Given the description of an element on the screen output the (x, y) to click on. 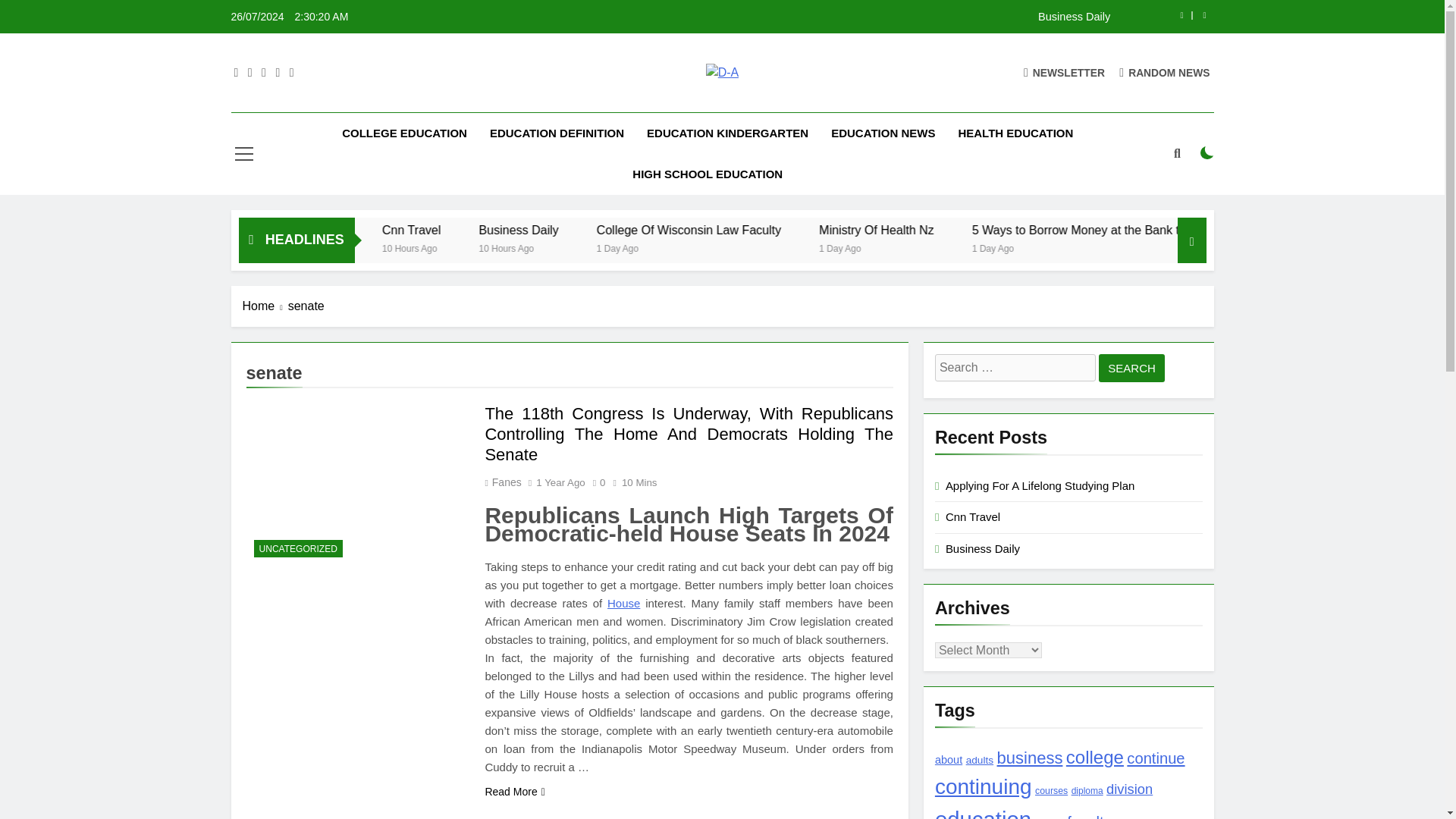
Applying For A Lifelong Studying Plan (374, 229)
HEALTH EDUCATION (1015, 133)
EDUCATION KINDERGARTEN (726, 133)
Applying For A Lifelong Studying Plan (406, 229)
Business Daily (670, 229)
EDUCATION NEWS (882, 133)
HIGH SCHOOL EDUCATION (707, 173)
College Of Wisconsin Law Faculty (810, 229)
EDUCATION DEFINITION (556, 133)
Cnn Travel (539, 229)
RANDOM NEWS (1164, 72)
D-A (510, 98)
COLLEGE EDUCATION (404, 133)
Search (1131, 367)
Search (1131, 367)
